Given the description of an element on the screen output the (x, y) to click on. 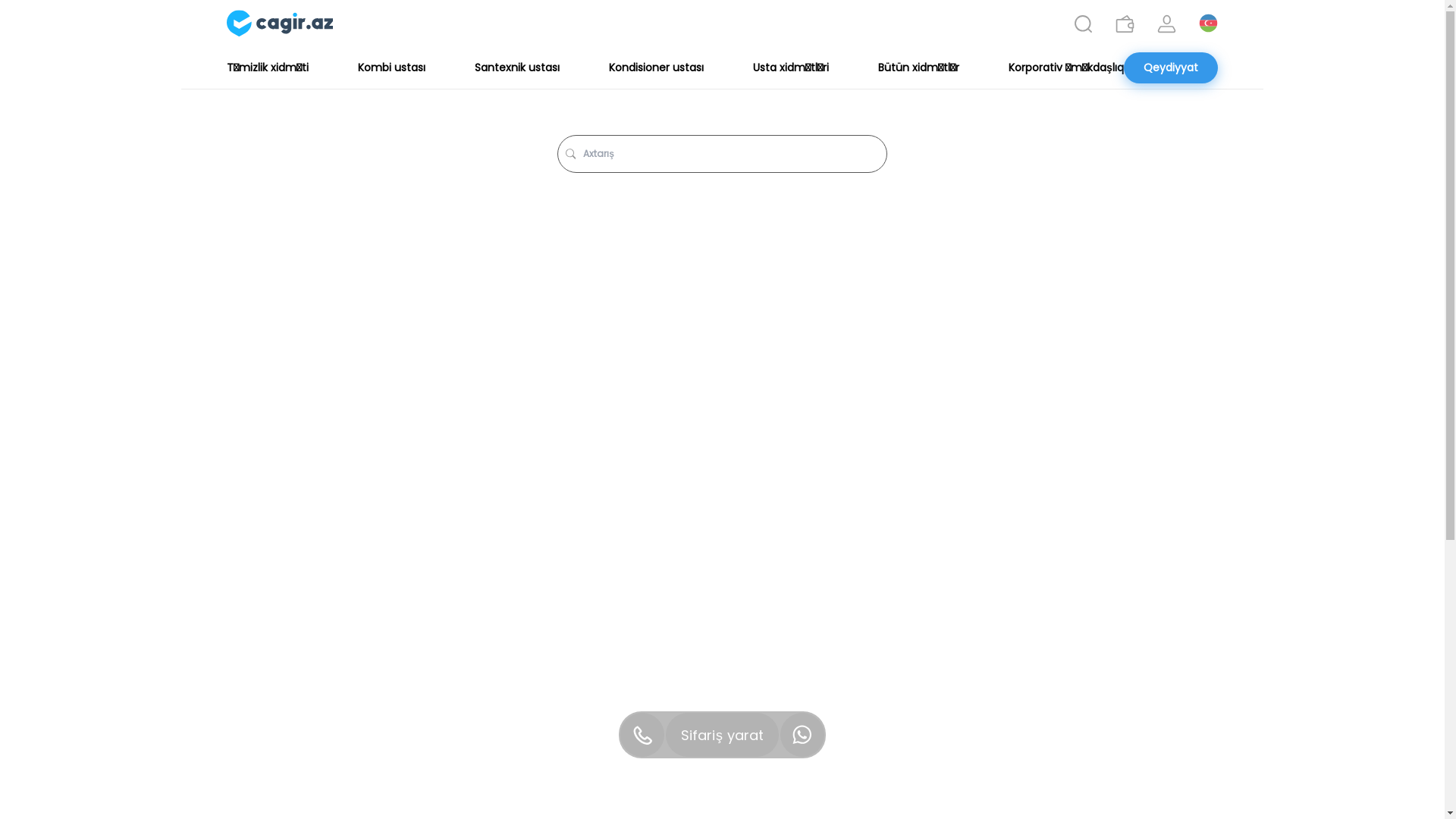
Cagir.az Element type: hover (279, 23)
Qeydiyyat Element type: text (1170, 67)
Qeydiyyat Element type: text (1170, 67)
